Given the description of an element on the screen output the (x, y) to click on. 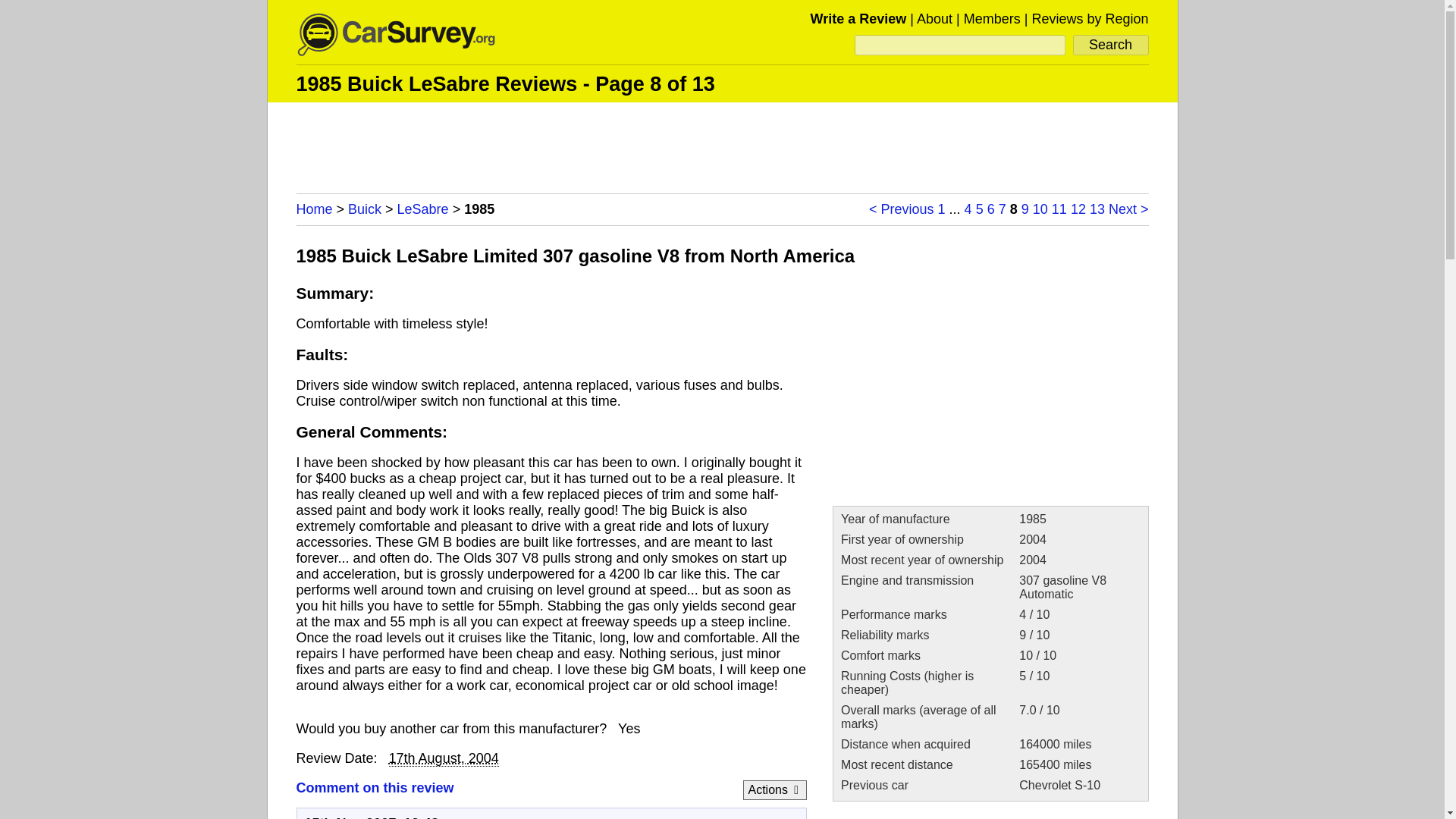
About (934, 18)
11 (1059, 209)
Home (313, 209)
10 (1040, 209)
Reviews by Region (1089, 18)
Search (1109, 45)
4 (967, 209)
Actions (774, 789)
6 (990, 209)
5 (979, 209)
1 (940, 209)
Comment on this review (373, 786)
Search (1109, 45)
Write a Review (858, 18)
Members (991, 18)
